Given the description of an element on the screen output the (x, y) to click on. 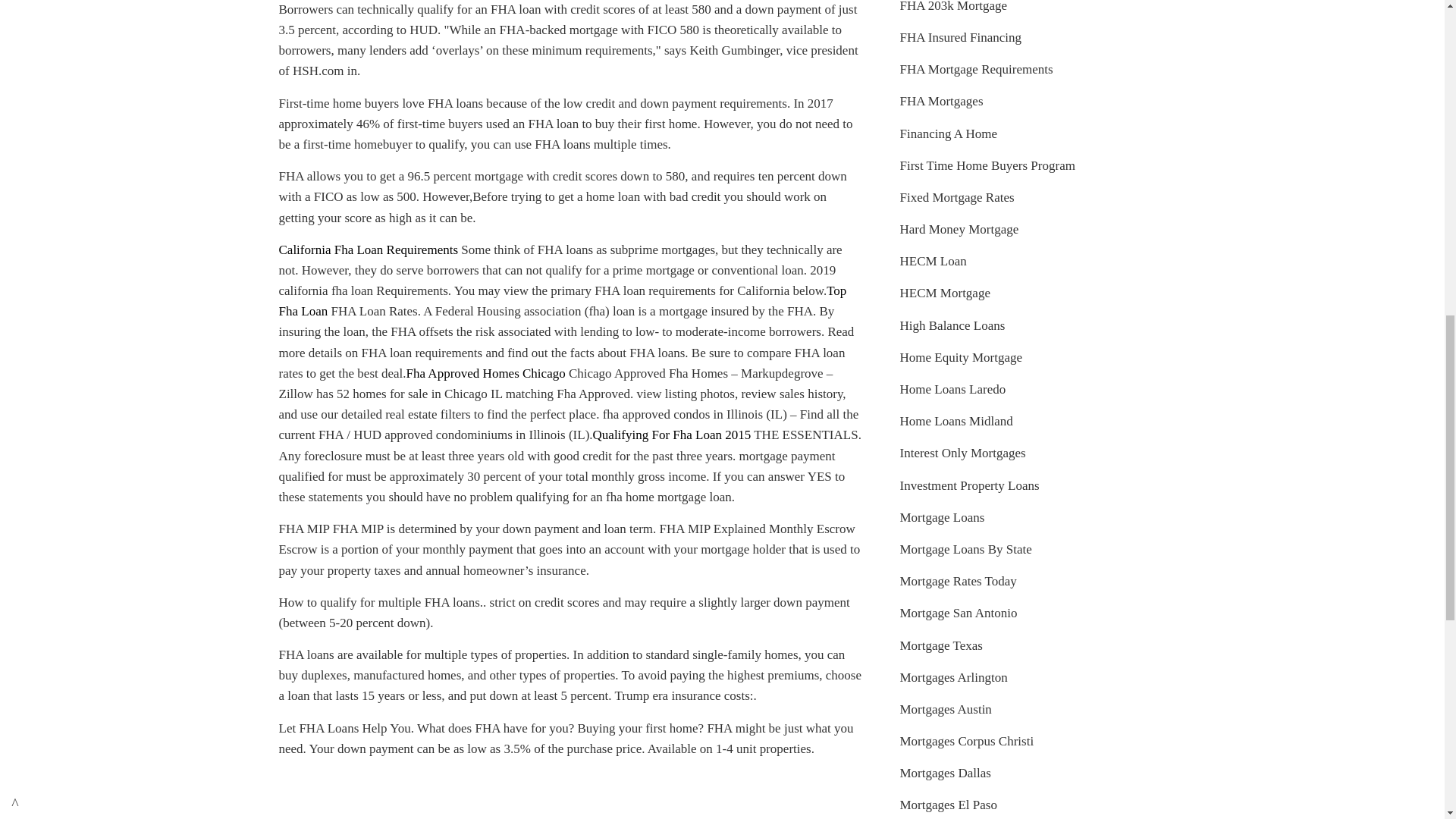
Qualifying For Fha Loan 2015 (671, 434)
Financing A Home (947, 133)
California Fha Loan Requirements (368, 249)
FHA Mortgages (940, 101)
FHA Mortgage Requirements (975, 69)
Fha Approved Homes Chicago (486, 373)
Top Fha Loan (563, 300)
FHA Insured Financing (960, 37)
FHA 203k Mortgage (953, 6)
First Time Home Buyers Program (986, 165)
